Given the description of an element on the screen output the (x, y) to click on. 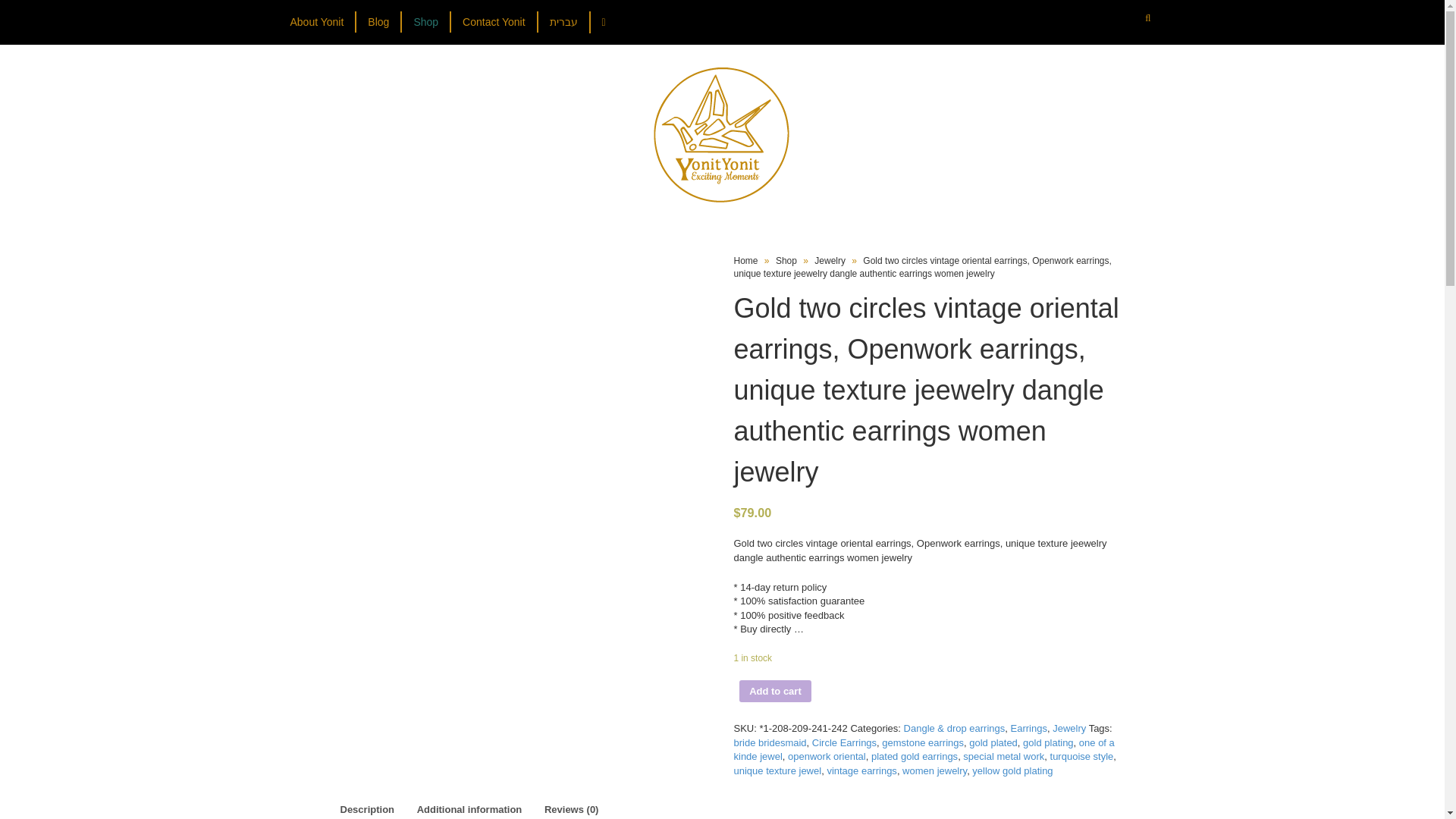
Start shopping (605, 22)
Blog (377, 21)
About Yonit (322, 21)
Shop (424, 21)
Contact Yonit (493, 21)
